Given the description of an element on the screen output the (x, y) to click on. 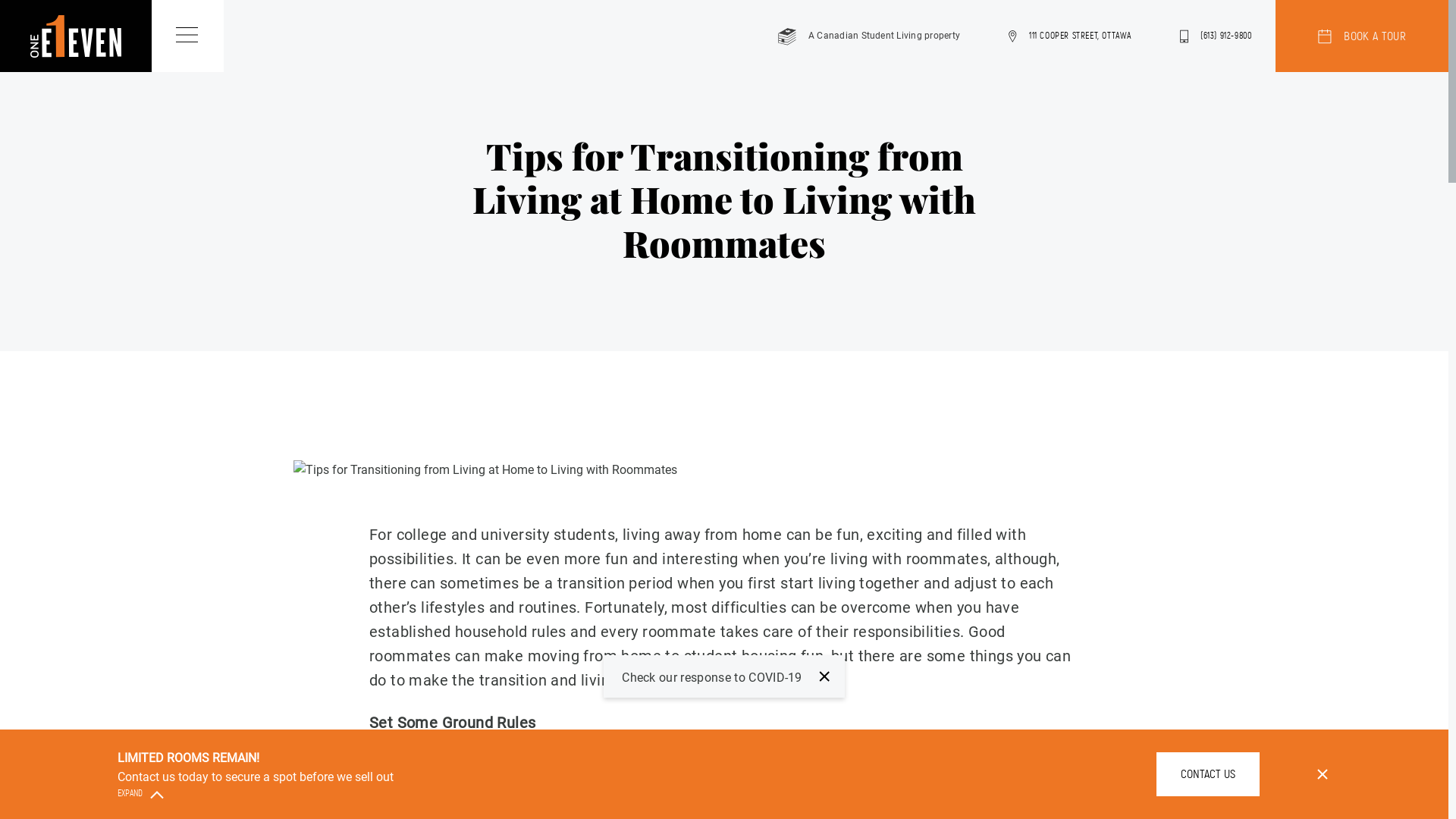
A Canadian Student Living property Element type: text (868, 36)
CONTACT US Element type: text (1207, 774)
Check our response to COVID-19 Element type: text (723, 676)
EXPAND Element type: text (136, 793)
BOOK A TOUR Element type: text (1361, 36)
111 COOPER STREET, OTTAWA Element type: text (1069, 36)
(613) 912-9800 Element type: text (1215, 36)
